Given the description of an element on the screen output the (x, y) to click on. 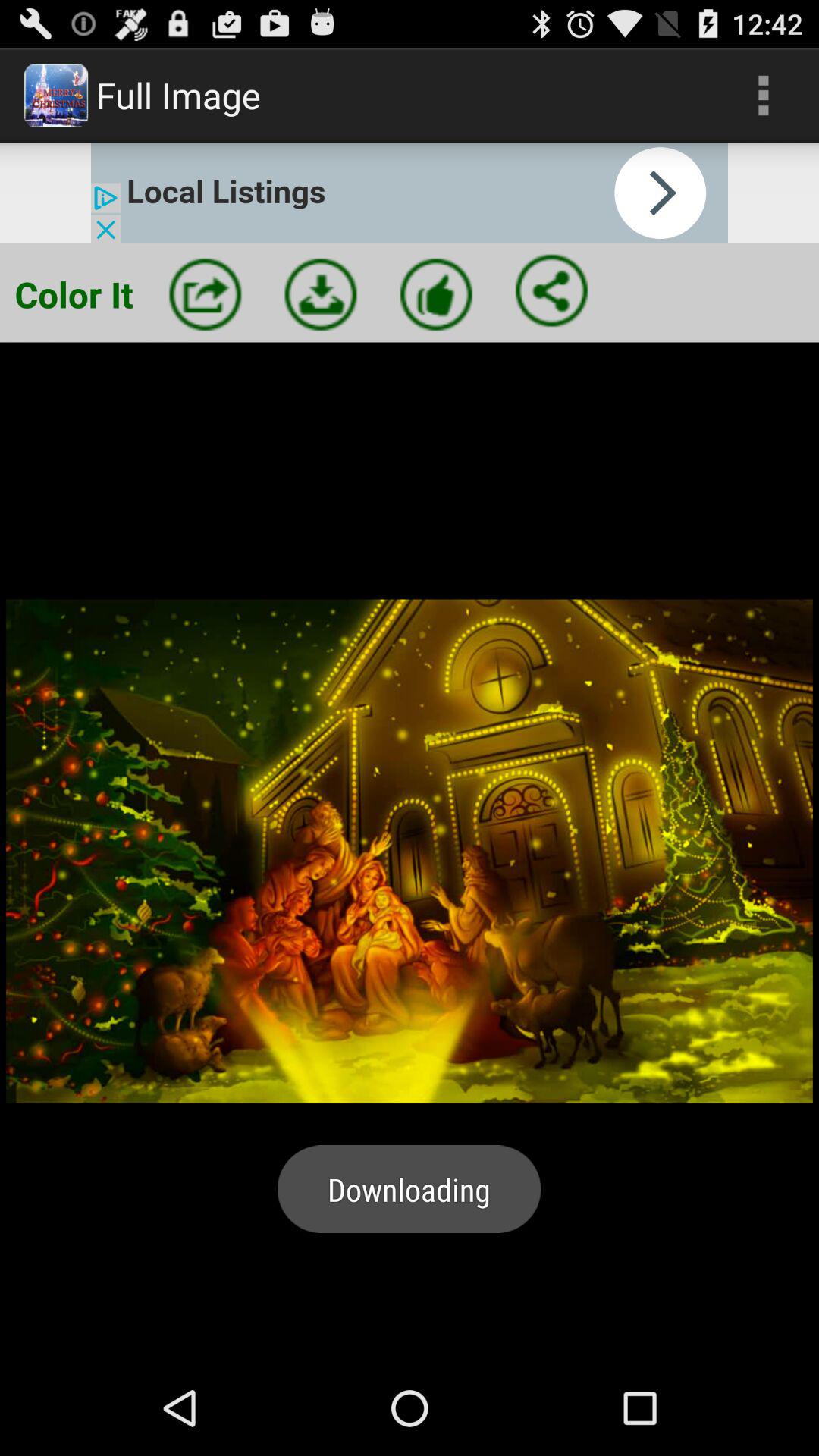
advertisement link (409, 192)
